Given the description of an element on the screen output the (x, y) to click on. 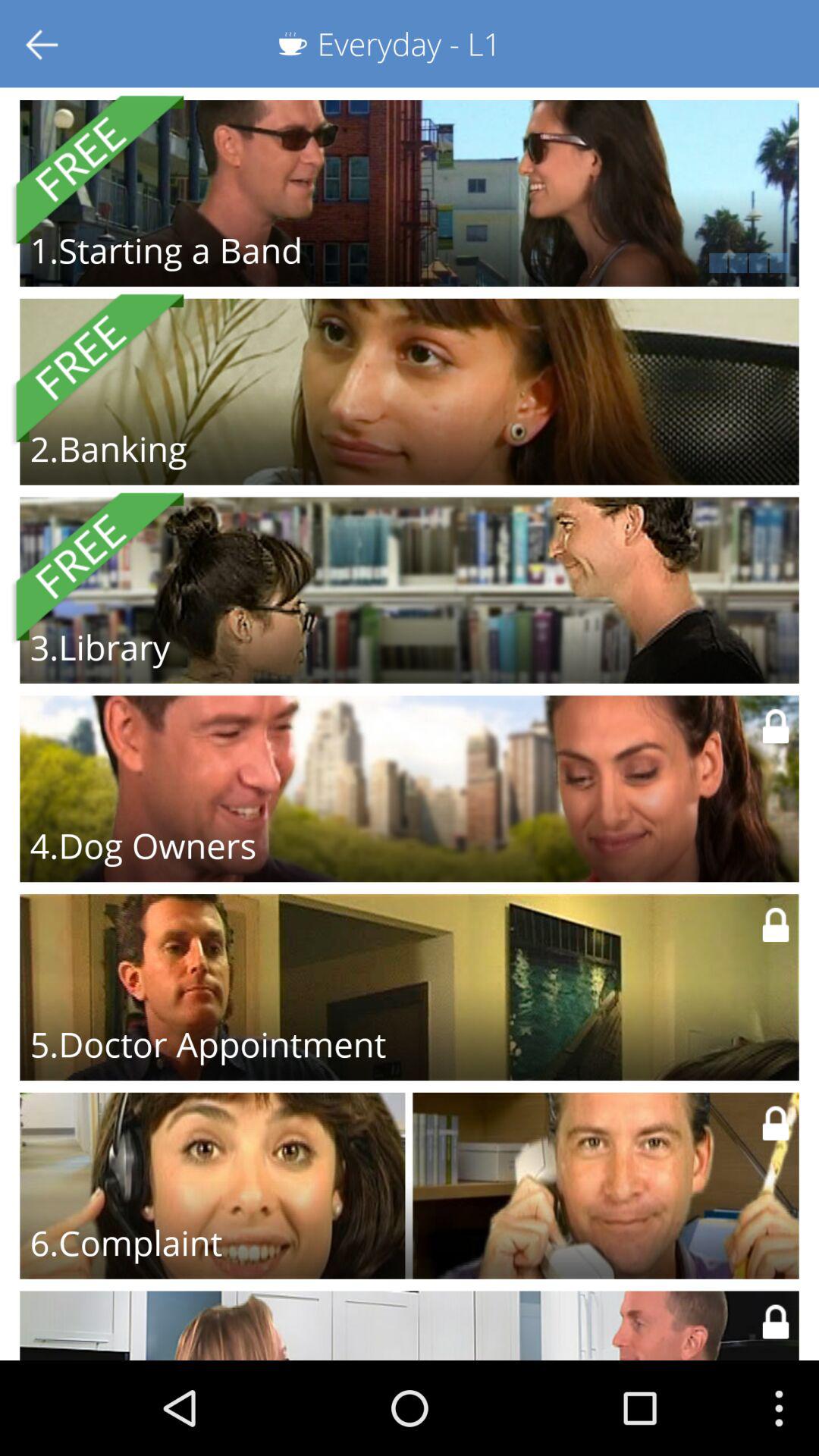
click 3.library icon (100, 646)
